Given the description of an element on the screen output the (x, y) to click on. 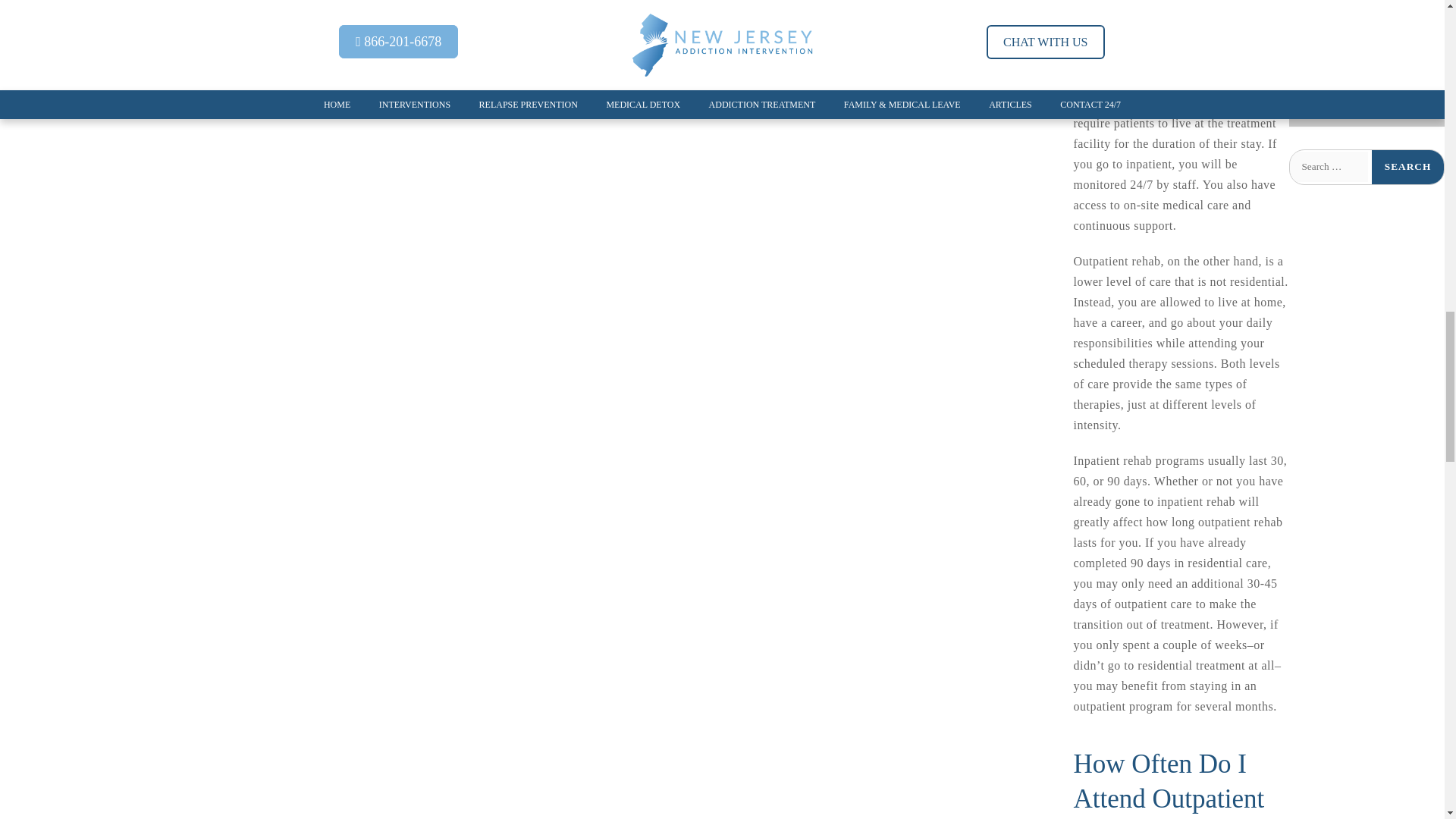
Search (1407, 166)
Search (1407, 166)
